Given the description of an element on the screen output the (x, y) to click on. 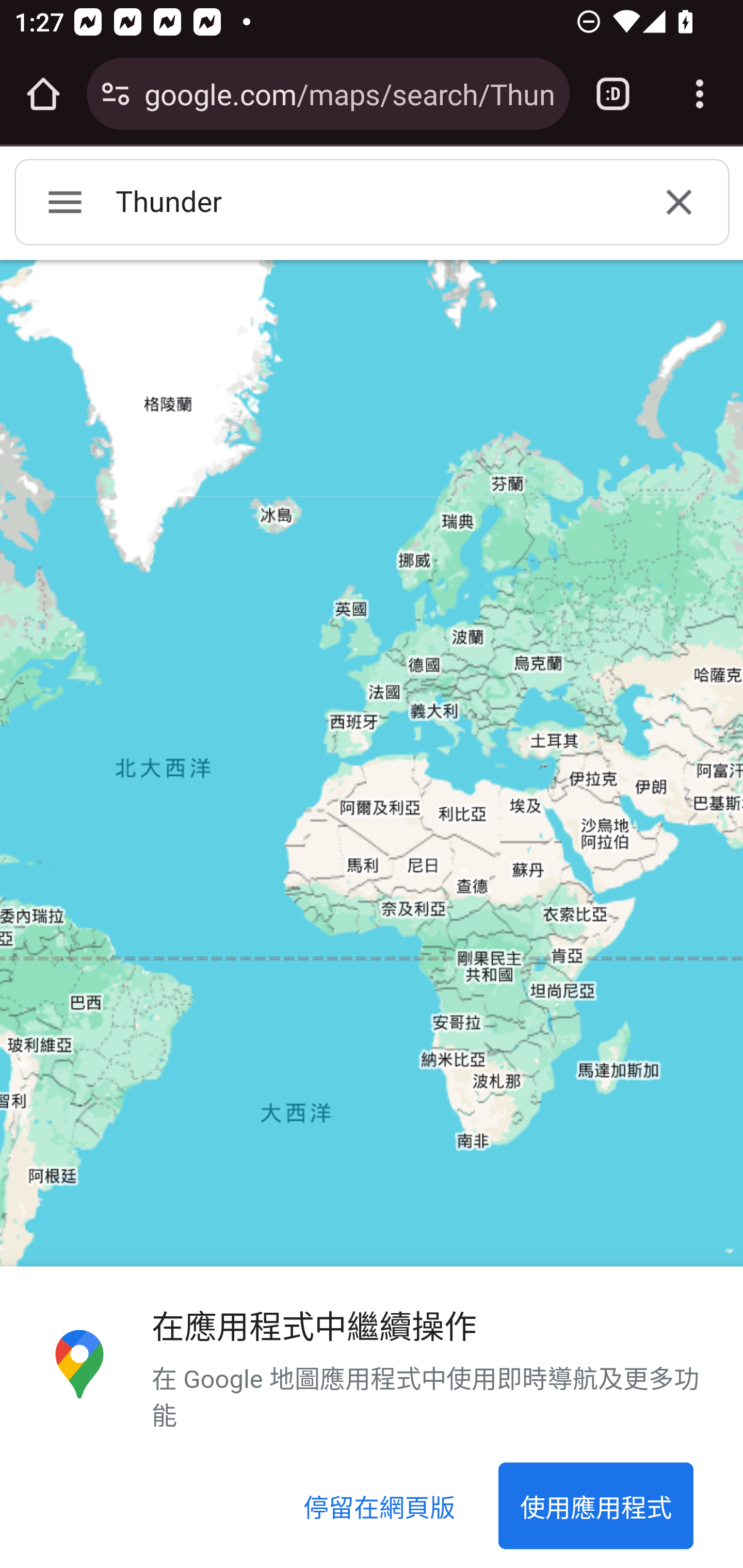
Open the home page (43, 93)
Connection is secure (115, 93)
Switch or close tabs (612, 93)
Customize and control Google Chrome (699, 93)
google.com/maps/search/Thunder/@18.2533756,0,2z (349, 92)
停留在網頁版 (379, 1506)
使用應用程式 (595, 1506)
